Given the description of an element on the screen output the (x, y) to click on. 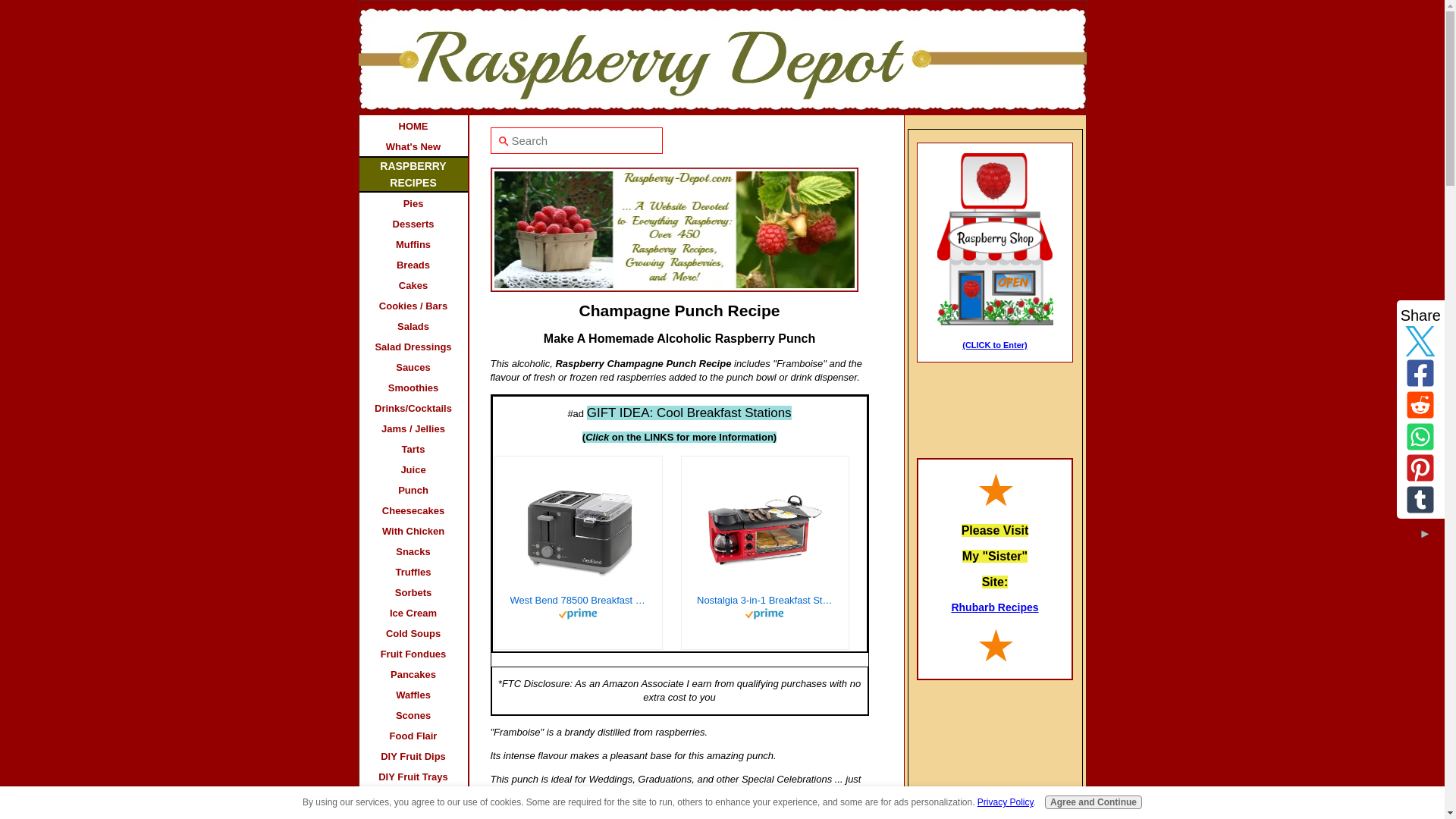
Smoothies (413, 386)
Salad Dressings (413, 345)
HOME (413, 125)
Muffins (413, 243)
Tarts (413, 448)
Raspberry Depot Facebook Page (994, 401)
Punch (413, 489)
Breads (413, 263)
What's New (413, 145)
Juice (413, 468)
Heart Shaped Recipes with Pictures  (995, 751)
Cakes (413, 284)
Go to Raspberry Shop - Buy Raspberry Plants Online and More! (994, 321)
Pies (413, 202)
